Given the description of an element on the screen output the (x, y) to click on. 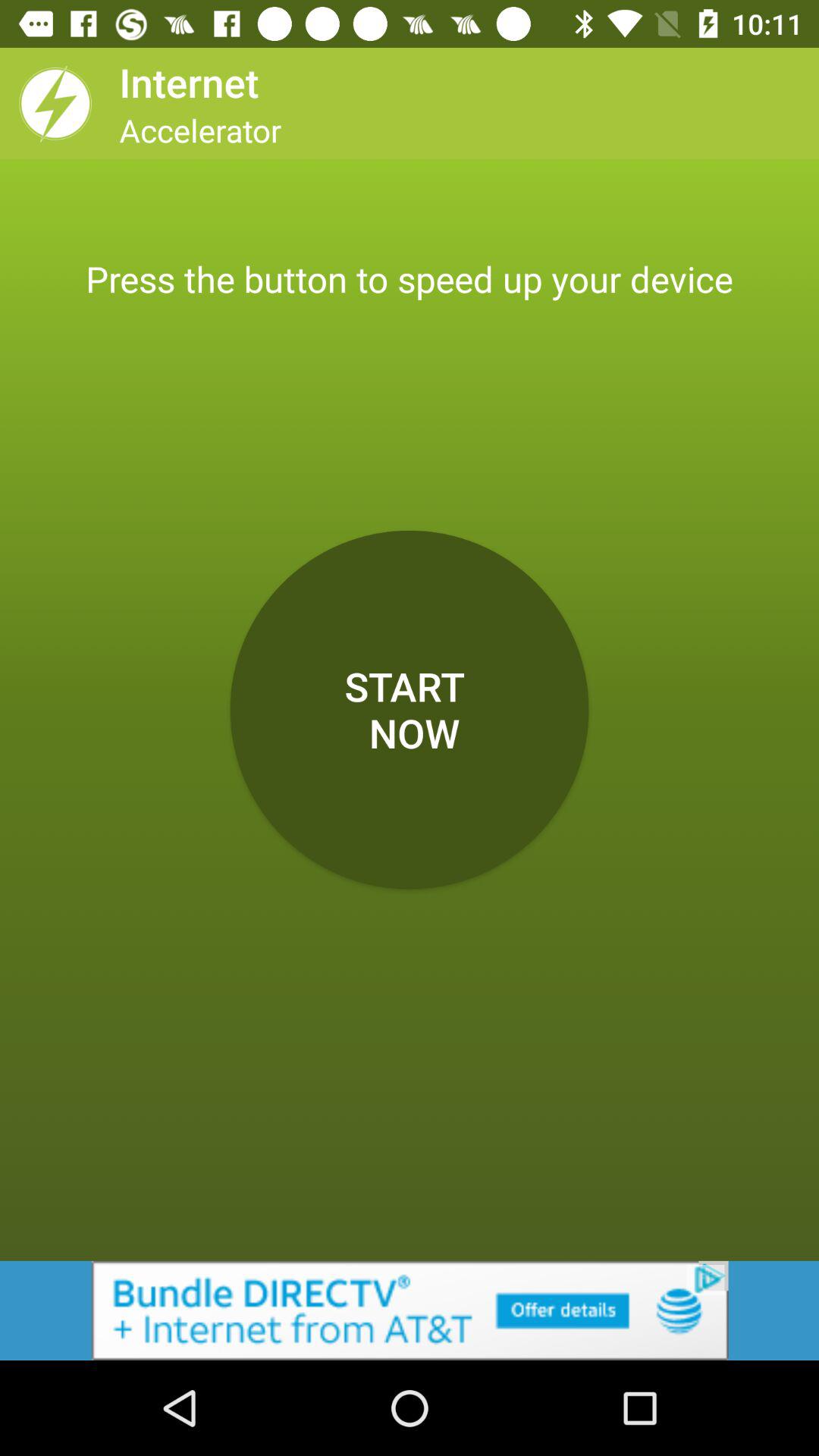
select the add (409, 1310)
